Given the description of an element on the screen output the (x, y) to click on. 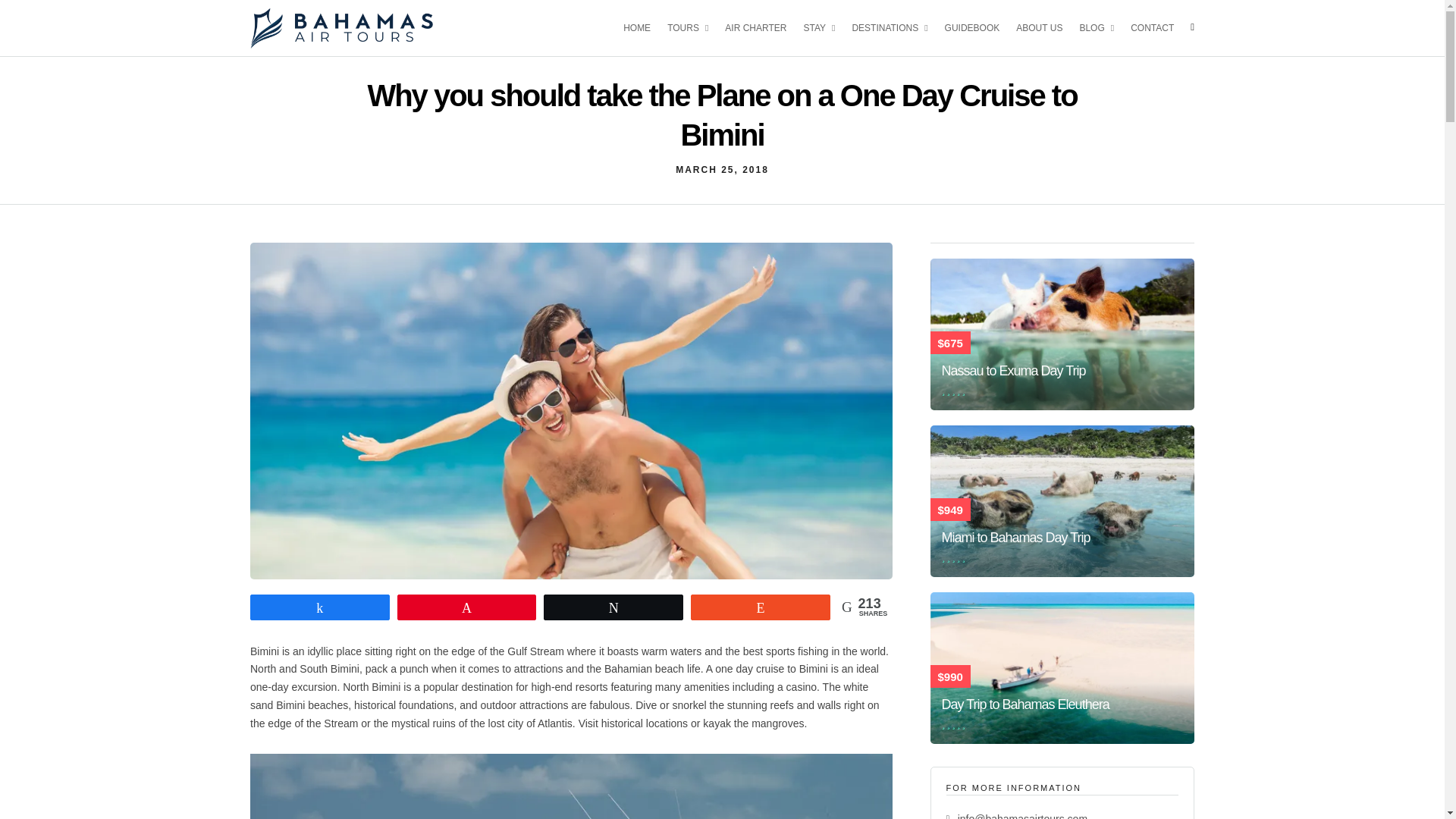
Why you should take the Plane on a One Day Cruise to Bimini (721, 169)
